Given the description of an element on the screen output the (x, y) to click on. 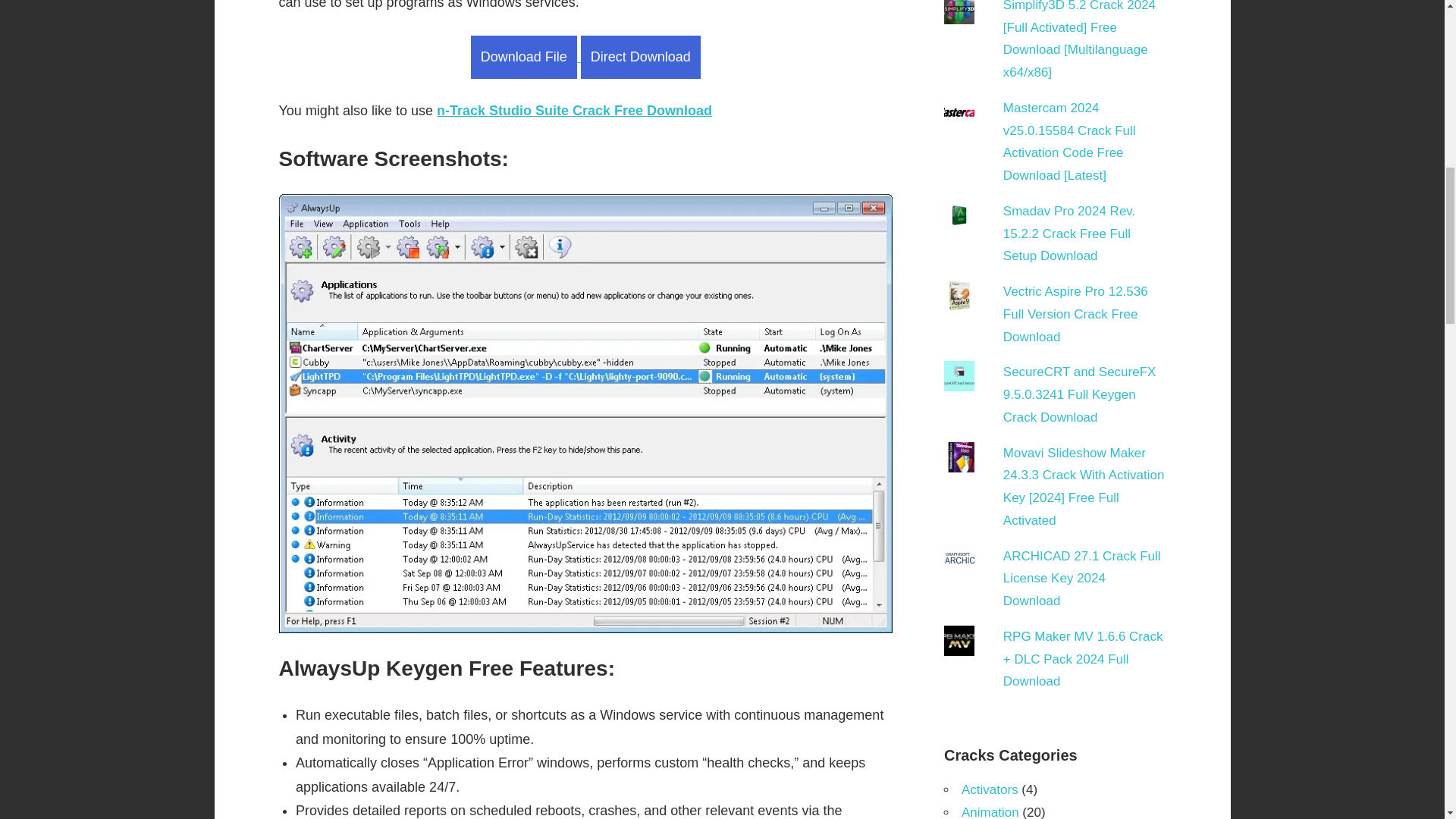
SecureCRT and SecureFX 9.5.0.3241 Full Keygen Crack Download (1079, 394)
Download File (523, 56)
Vectric Aspire Pro 12.536 Full Version Crack Free Download (1075, 313)
Download File Direct Download (585, 55)
Smadav Pro 2024 Rev. 15.2.2 Crack Free Full Setup Download (1069, 233)
n-Track Studio Suite Crack Free Download (573, 110)
Direct Download (640, 56)
